Given the description of an element on the screen output the (x, y) to click on. 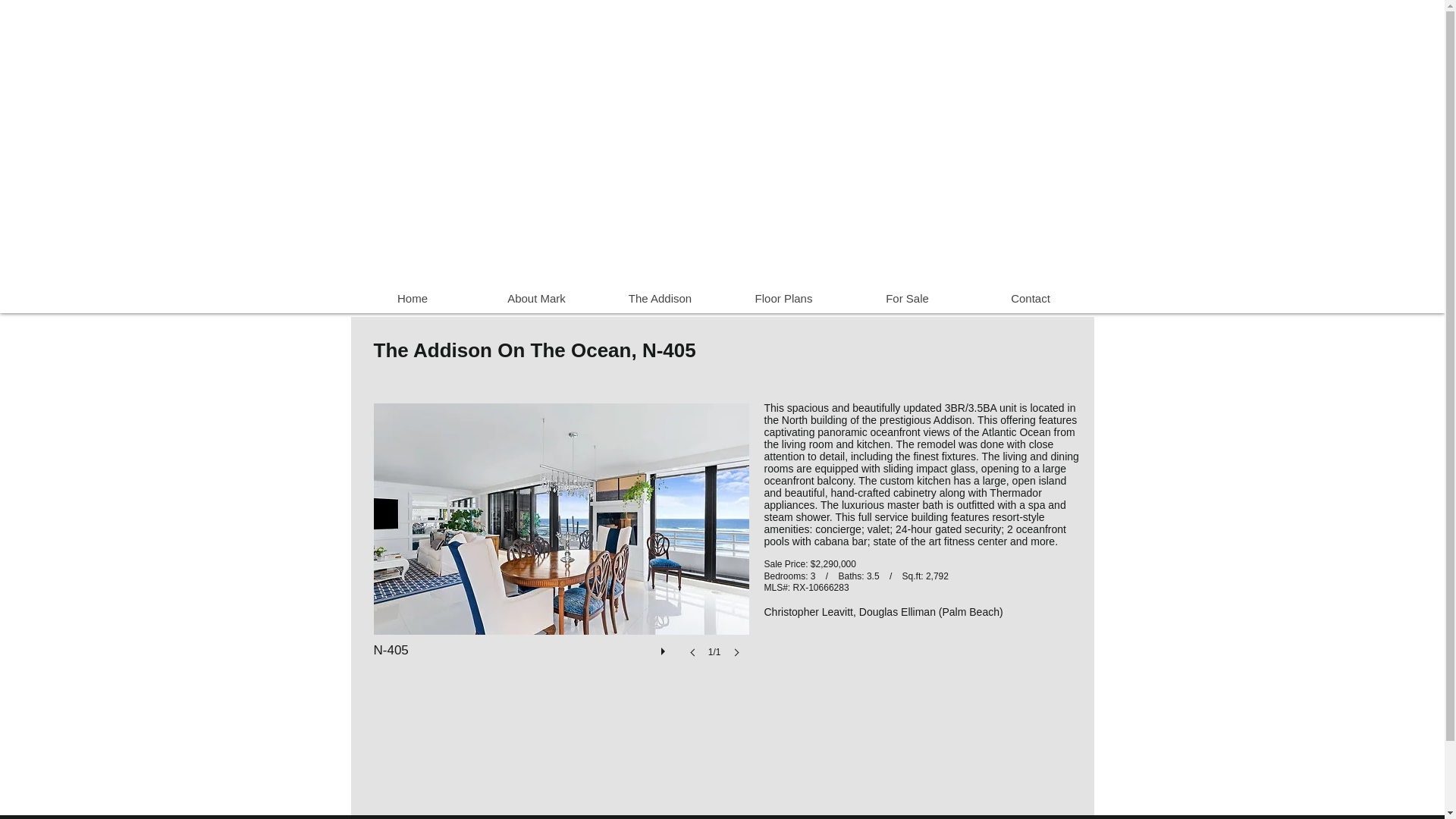
External Vimeo (700, 148)
Contact (1030, 298)
About Mark (536, 298)
The Addison (658, 298)
Home (412, 298)
Floor Plans (783, 298)
For Sale (906, 298)
